Given the description of an element on the screen output the (x, y) to click on. 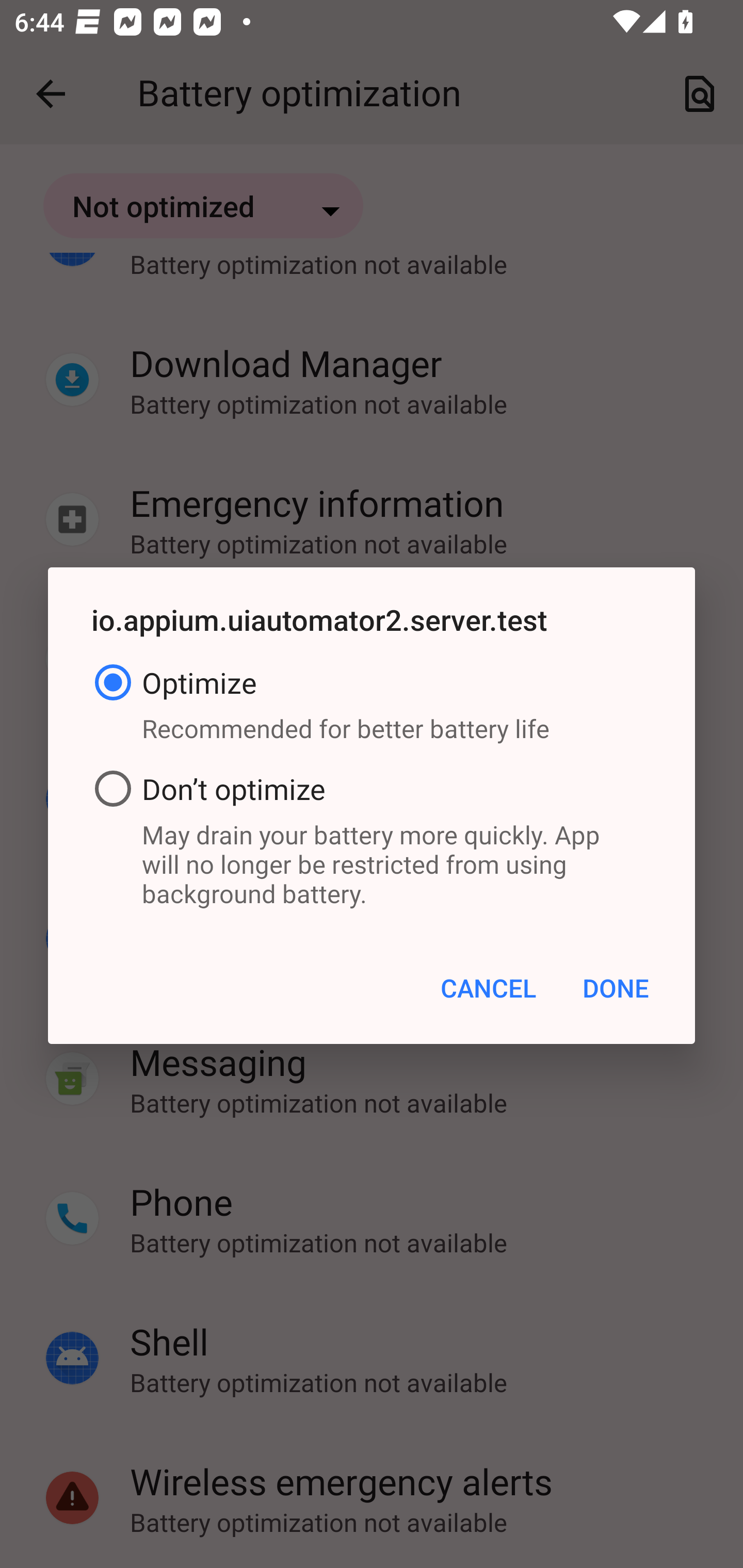
Optimize Recommended for better battery life (371, 706)
CANCEL (488, 987)
DONE (615, 987)
